Given the description of an element on the screen output the (x, y) to click on. 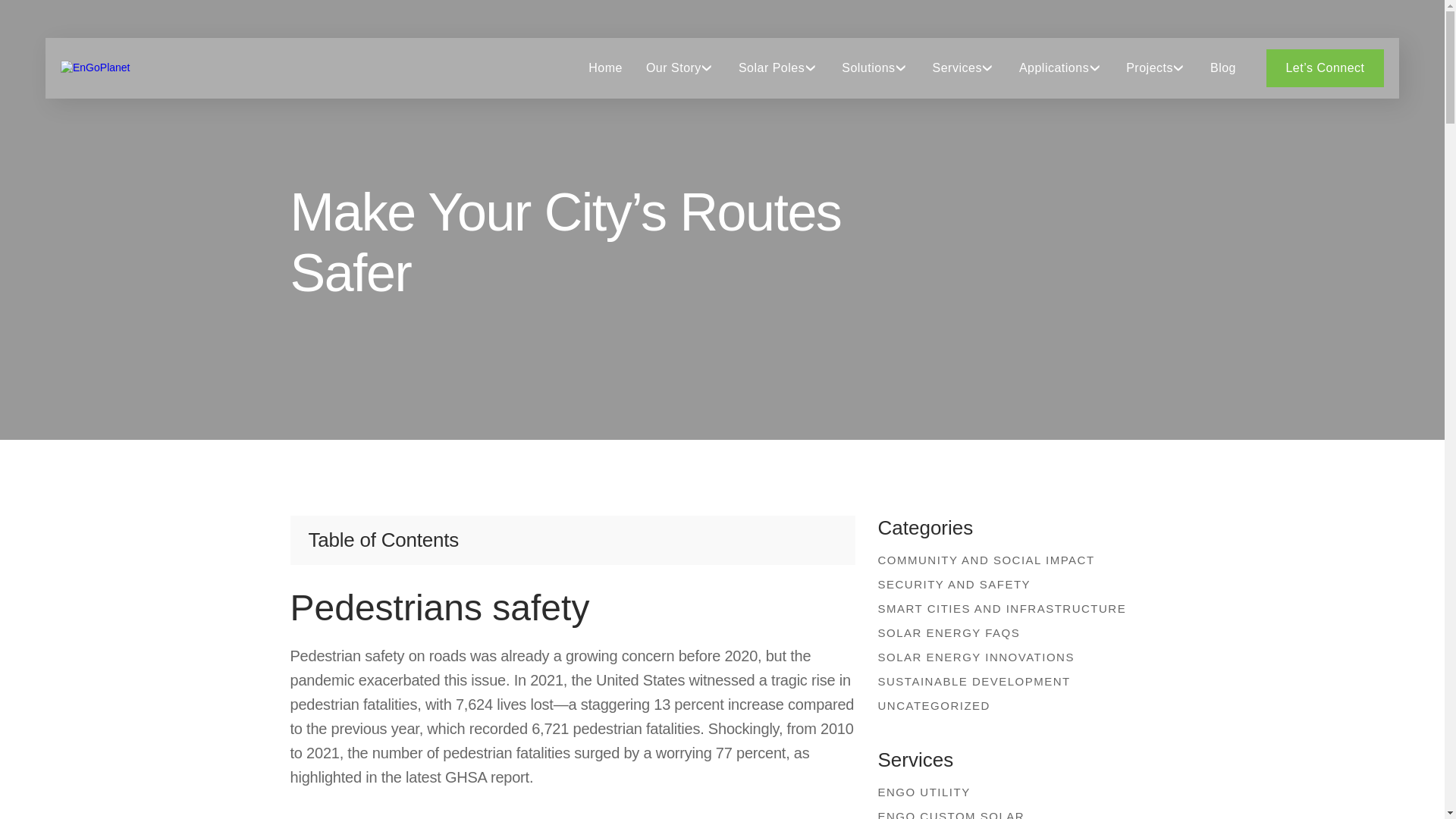
COMMUNITY AND SOCIAL IMPACT (1009, 559)
Applications (1054, 67)
SMART CITIES AND INFRASTRUCTURE (1009, 608)
SECURITY AND SAFETY (1009, 584)
Our Story (673, 67)
Solar Poles (771, 67)
SOLAR ENERGY FAQS (1009, 632)
